Given the description of an element on the screen output the (x, y) to click on. 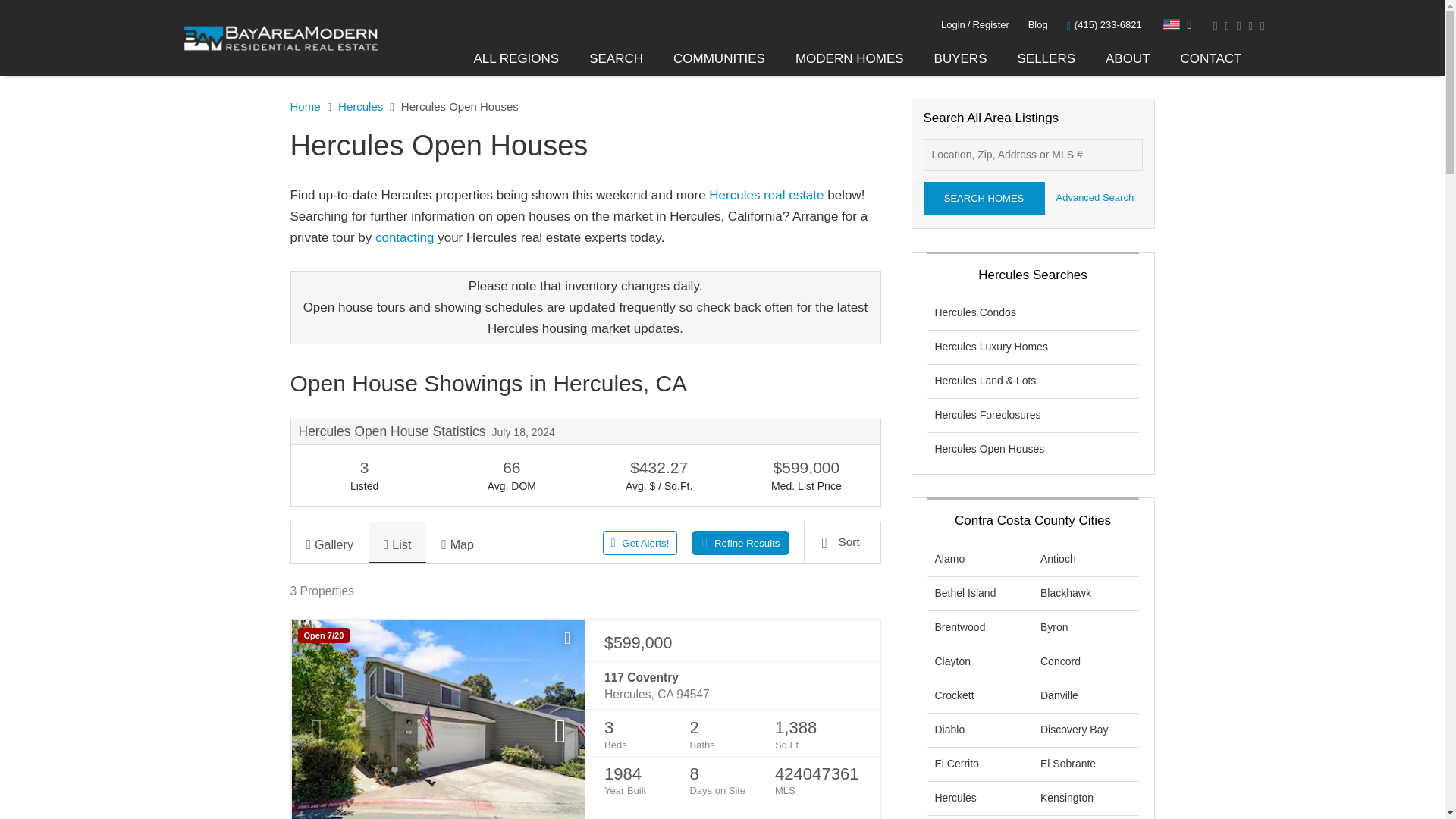
BUYERS (960, 58)
SEARCH (615, 58)
COMMUNITIES (719, 58)
SELLERS (1045, 58)
117 Coventry Hercules,  CA 94547 (732, 686)
MODERN HOMES (849, 58)
ALL REGIONS (515, 58)
Select Language (1177, 24)
